Given the description of an element on the screen output the (x, y) to click on. 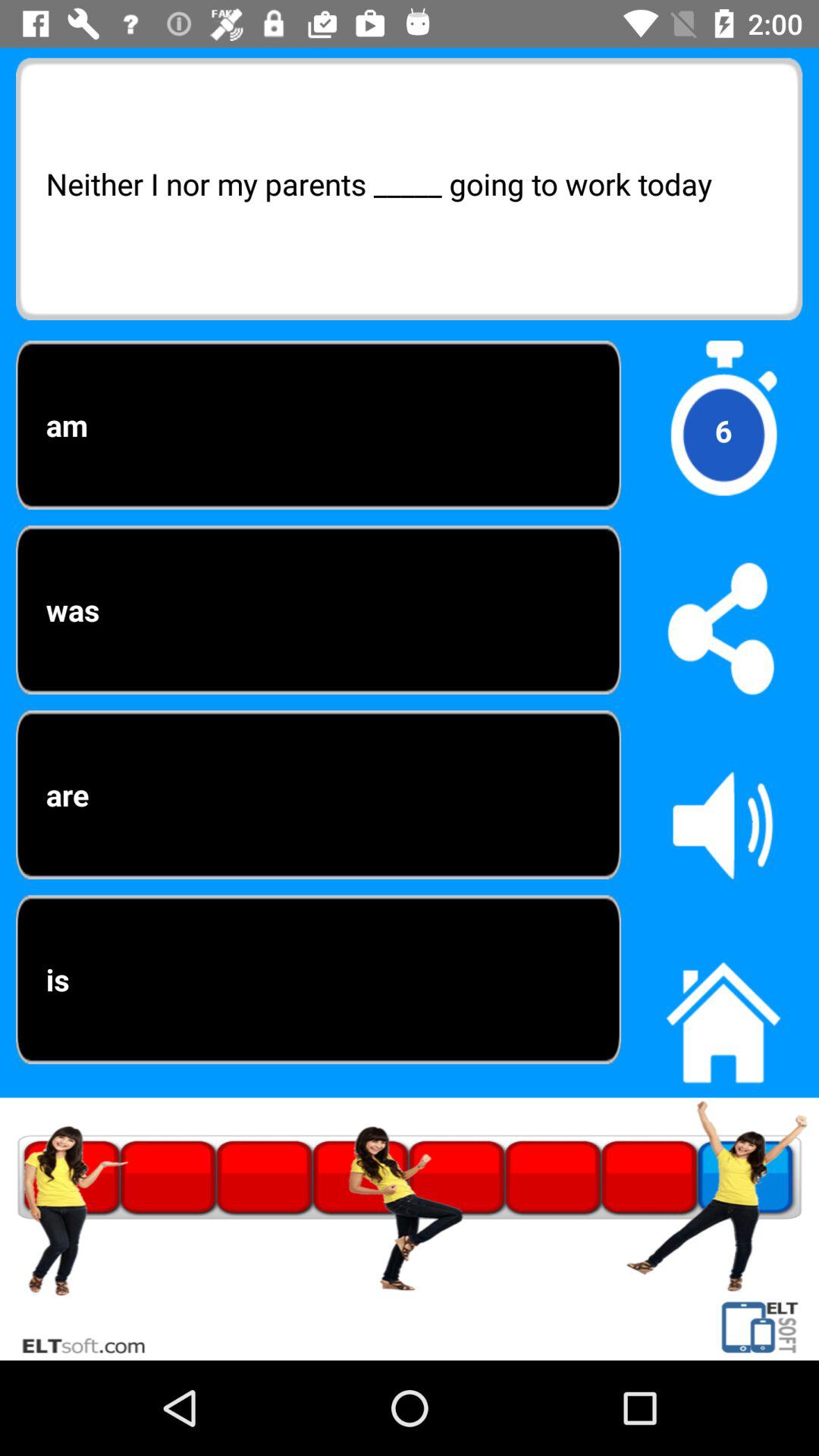
open app below the neither i nor icon (723, 430)
